Given the description of an element on the screen output the (x, y) to click on. 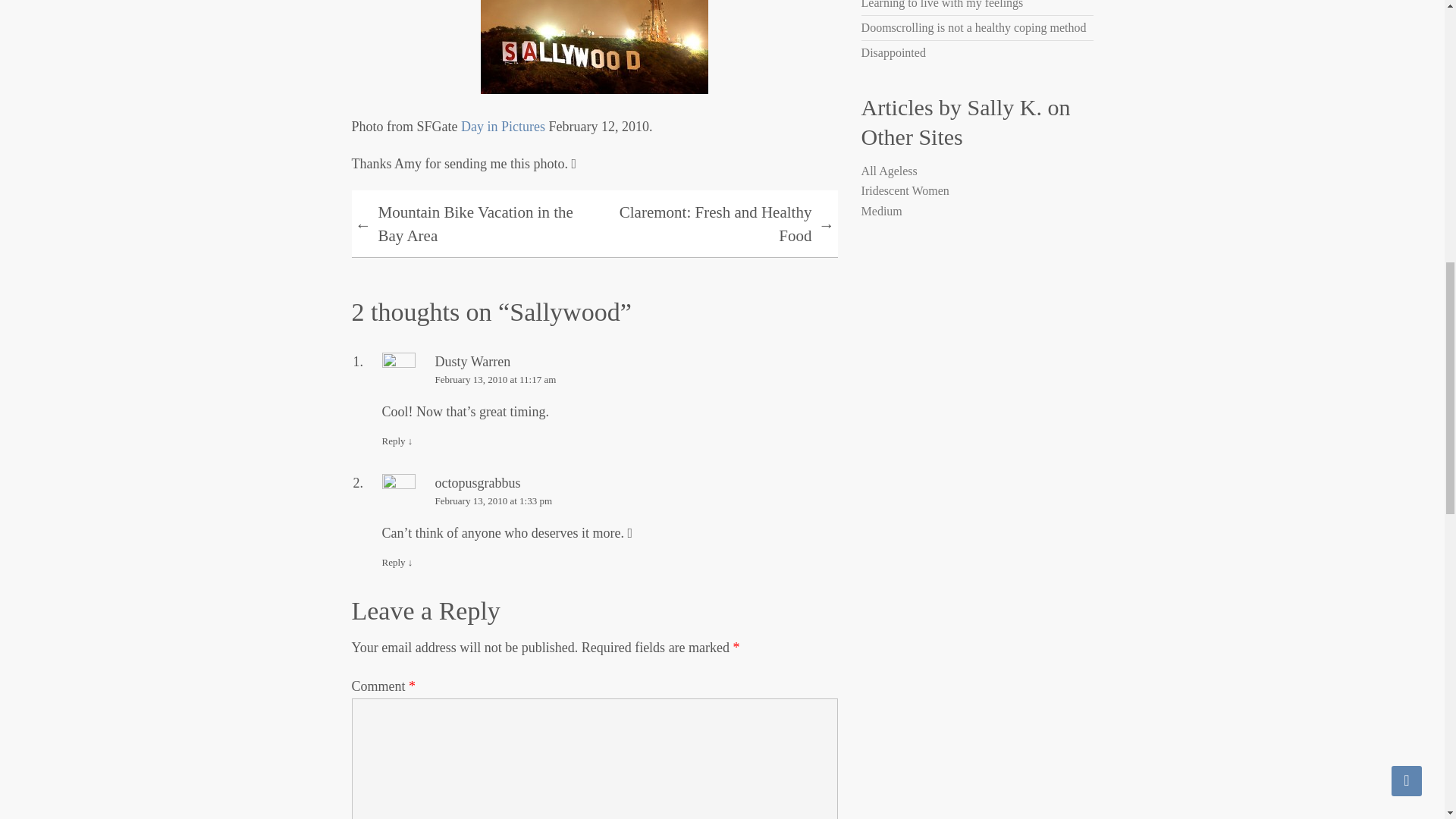
Day in Pictures (502, 126)
SallyWood (593, 47)
Dusty Warren (473, 361)
February 13, 2010 at 1:33 pm (609, 500)
February 13, 2010 at 11:17 am (609, 379)
octopusgrabbus (478, 482)
